Given the description of an element on the screen output the (x, y) to click on. 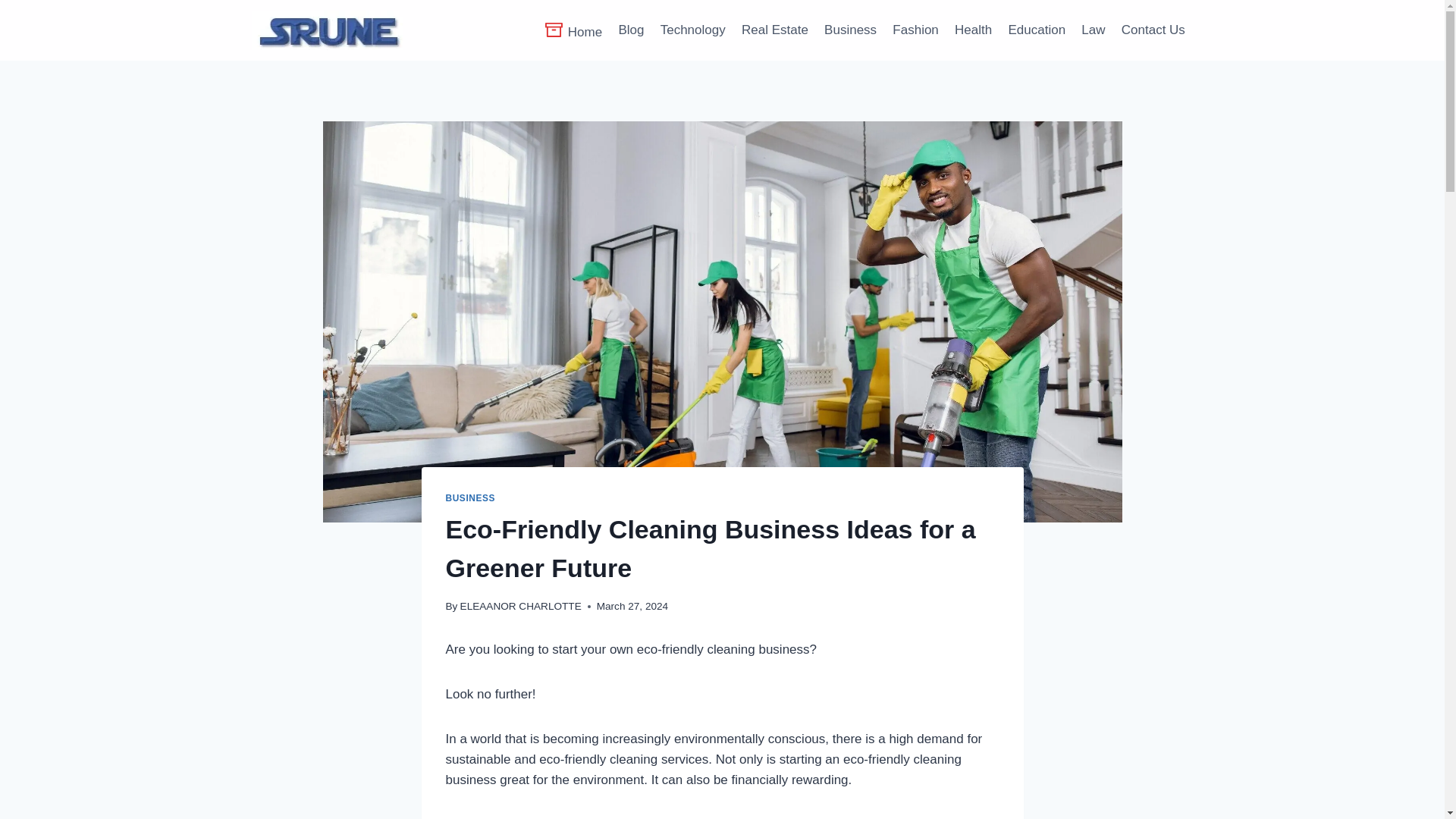
Home (573, 29)
Real Estate (774, 30)
Education (1037, 30)
Blog (631, 30)
Fashion (916, 30)
Law (1093, 30)
Contact Us (1152, 30)
Business (849, 30)
Health (972, 30)
ELEAANOR CHARLOTTE (520, 605)
